Given the description of an element on the screen output the (x, y) to click on. 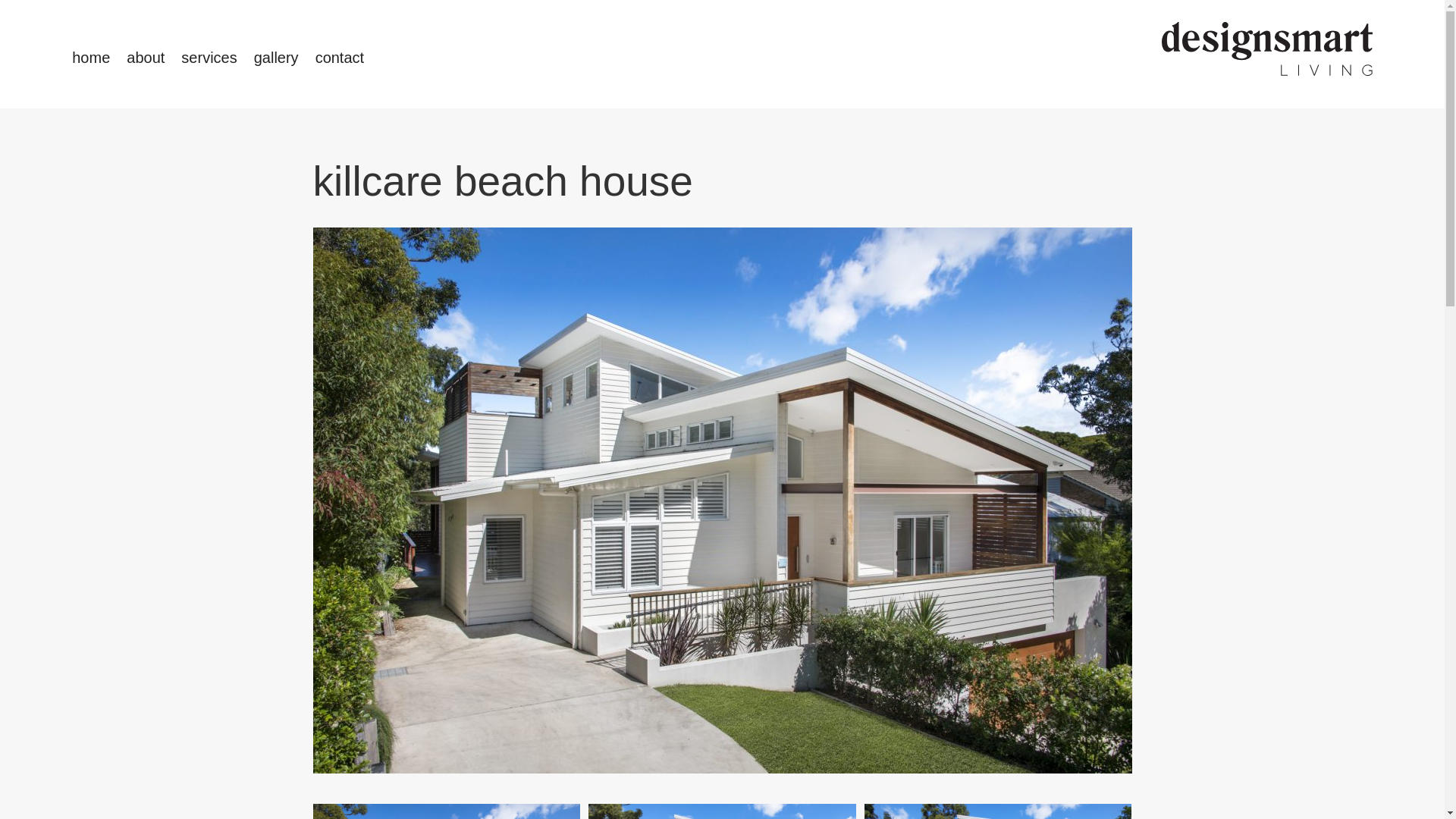
contact Element type: text (339, 57)
home Element type: text (90, 57)
gallery Element type: text (276, 57)
services Element type: text (208, 57)
about Element type: text (145, 57)
